Given the description of an element on the screen output the (x, y) to click on. 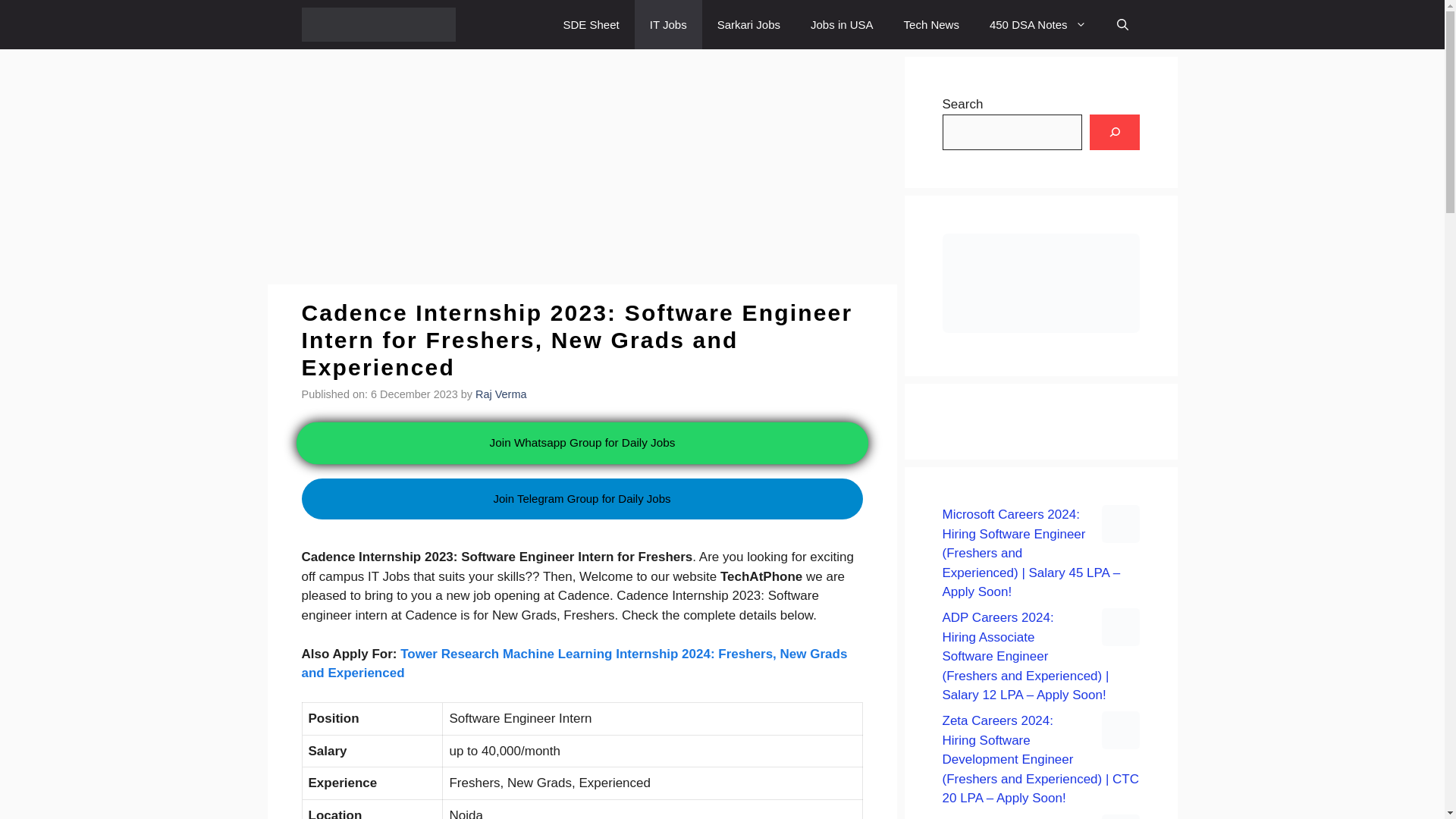
450 DSA Notes (1038, 24)
Sarkari Jobs (747, 24)
Join Telegram Group for Daily Jobs (582, 526)
Raj Verma (500, 394)
IT Jobs (667, 24)
Tech News (931, 24)
Join Telegram Group for Daily Jobs (582, 499)
Join Whatsapp Group for Daily Jobs (582, 441)
Jobs in USA (841, 24)
SDE Sheet (591, 24)
